Given the description of an element on the screen output the (x, y) to click on. 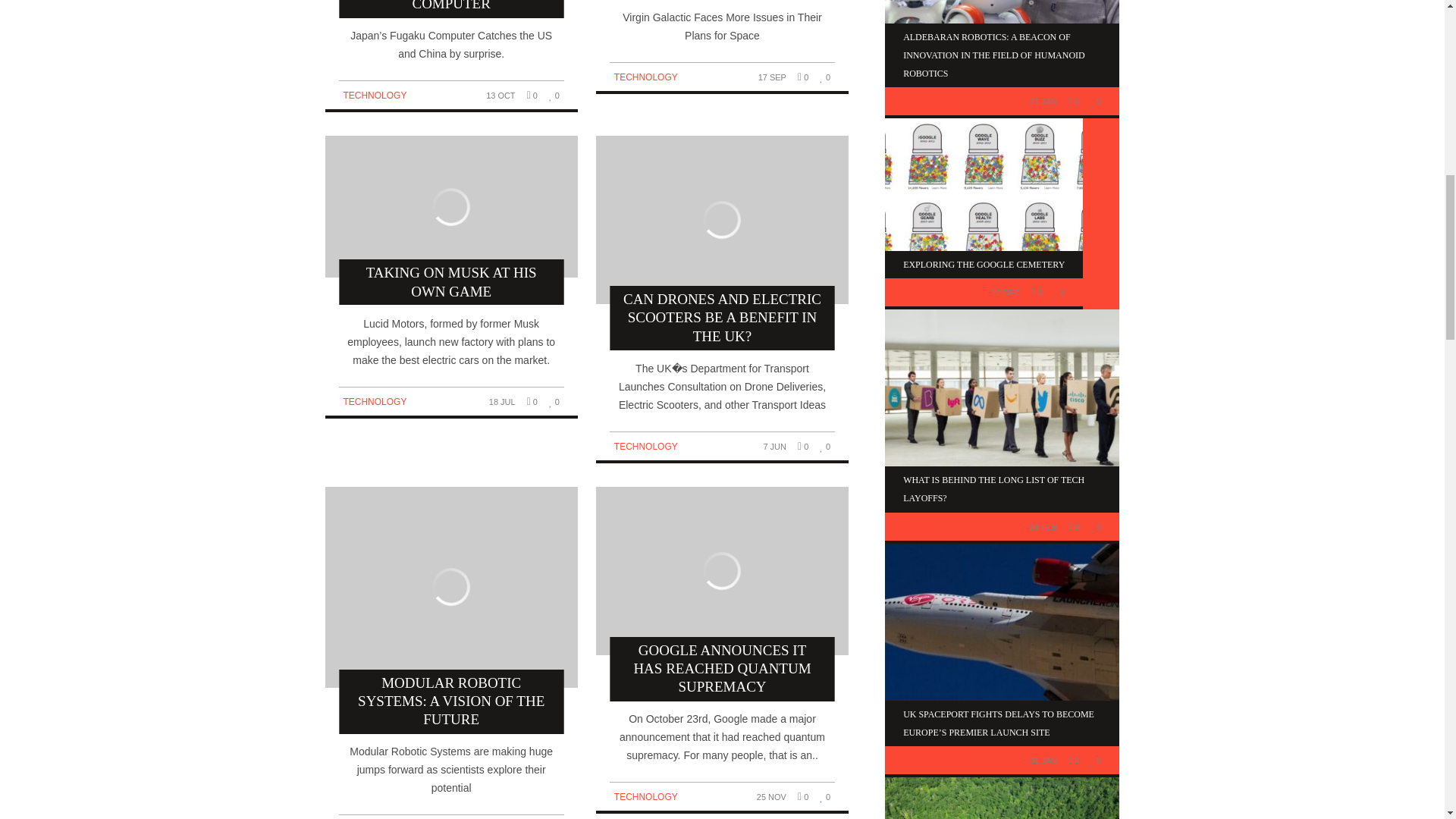
TECHNOLOGY (646, 77)
TECHNOLOGY (374, 95)
View all posts in Technology (374, 95)
TECHNOLOGY (374, 401)
TAKING ON MUSK AT HIS OWN GAME (450, 219)
View all posts in Technology (646, 77)
View all posts in Innovation (930, 101)
View all posts in Technology (934, 760)
View all posts in Technology (646, 446)
View all posts in Technology (646, 796)
